Given the description of an element on the screen output the (x, y) to click on. 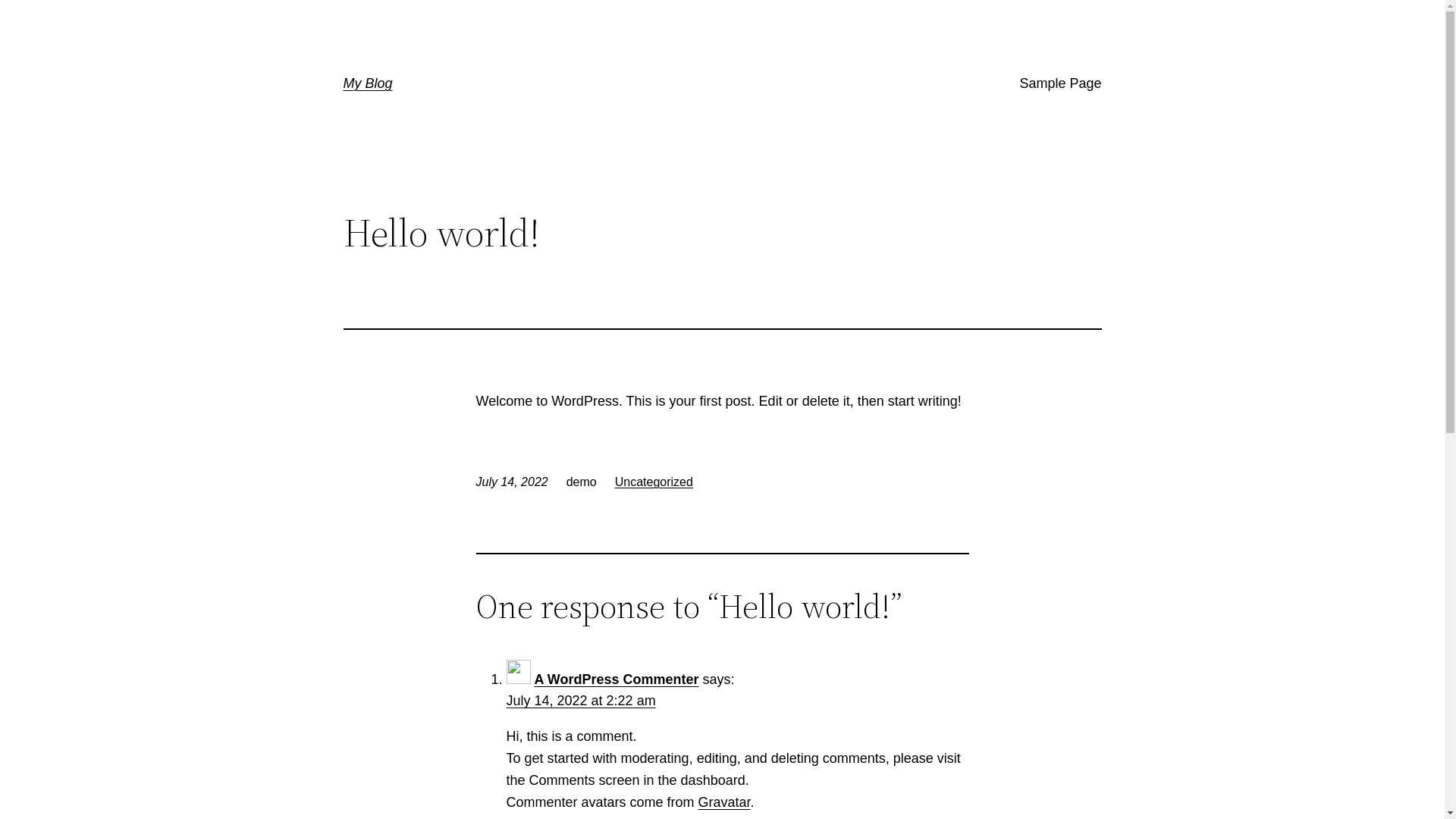
My Blog Element type: text (367, 83)
Gravatar Element type: text (724, 801)
A WordPress Commenter Element type: text (616, 679)
July 14, 2022 at 2:22 am Element type: text (580, 700)
Sample Page Element type: text (1060, 83)
Uncategorized Element type: text (654, 481)
